Given the description of an element on the screen output the (x, y) to click on. 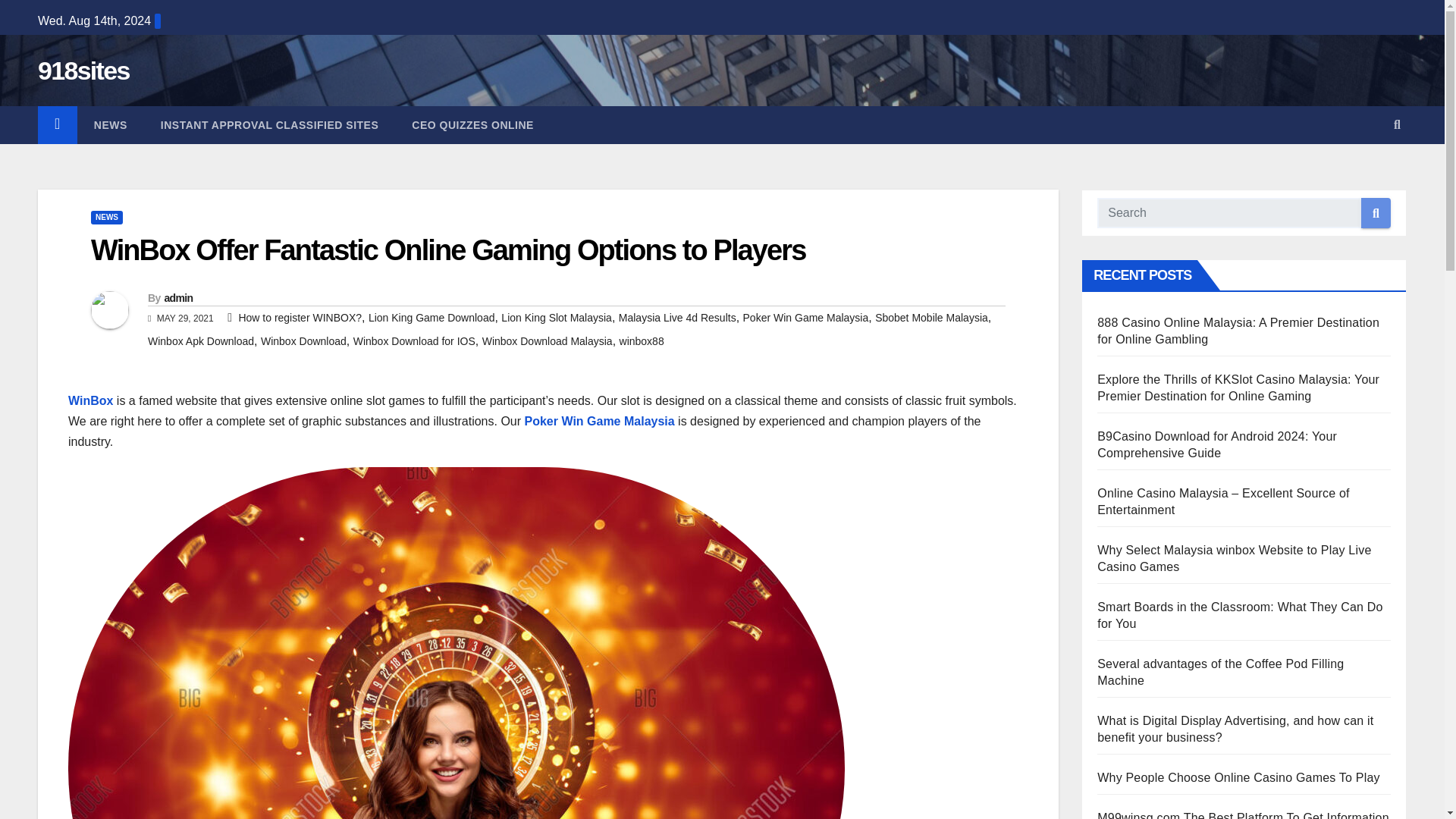
Malaysia Live 4d Results (677, 317)
Winbox Download (303, 340)
Lion King Game Download (431, 317)
NEWS (106, 217)
admin (177, 297)
News (110, 125)
Winbox Download Malaysia (546, 340)
Winbox Apk Download (200, 340)
WinBox (90, 400)
Instant Approval Classified Sites (269, 125)
